Given the description of an element on the screen output the (x, y) to click on. 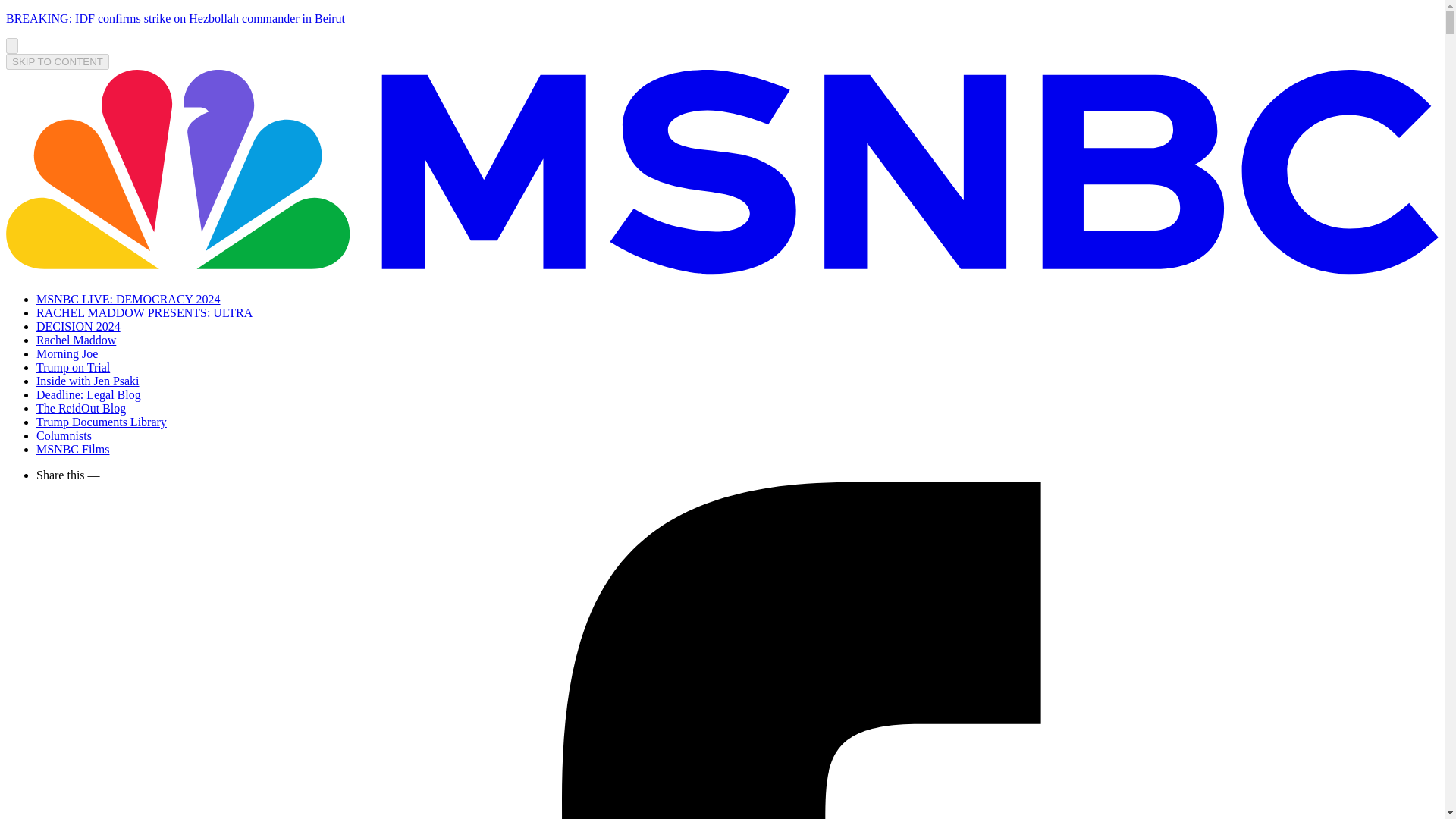
Morning Joe (66, 353)
MSNBC LIVE: DEMOCRACY 2024 (128, 298)
DECISION 2024 (78, 326)
Inside with Jen Psaki (87, 380)
The ReidOut Blog (80, 408)
RACHEL MADDOW PRESENTS: ULTRA (143, 312)
Trump on Trial (73, 367)
Deadline: Legal Blog (88, 394)
Columnists (63, 435)
Trump Documents Library (101, 421)
MSNBC Films (72, 449)
Rachel Maddow (76, 339)
SKIP TO CONTENT (57, 61)
